Given the description of an element on the screen output the (x, y) to click on. 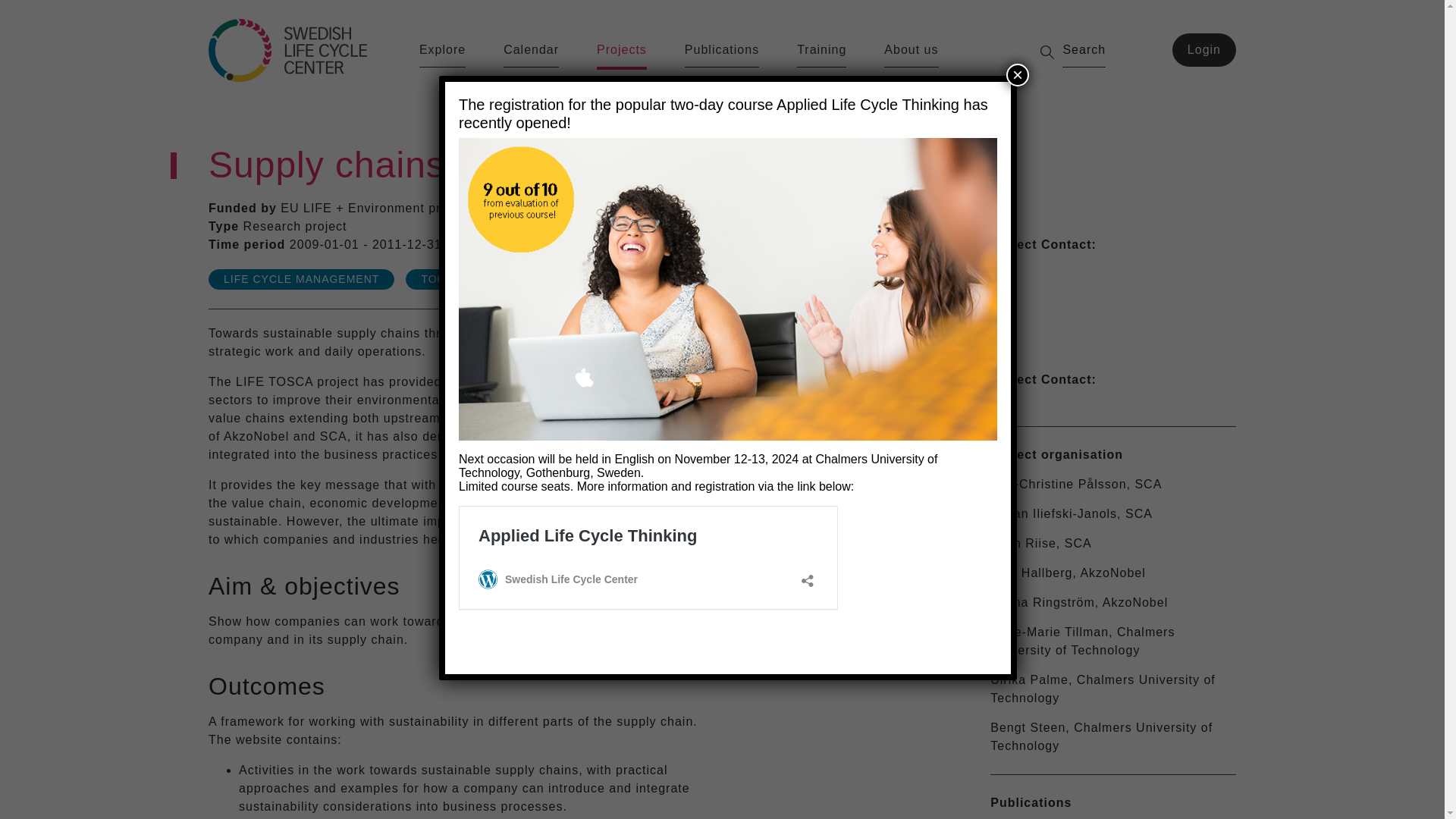
LIFE CYCLE MANAGEMENT (301, 279)
Publications (721, 53)
Training (820, 53)
About us (910, 53)
Login (1204, 49)
Explore (442, 53)
Projects (621, 54)
Calendar (531, 53)
TOOLS (441, 279)
